Given the description of an element on the screen output the (x, y) to click on. 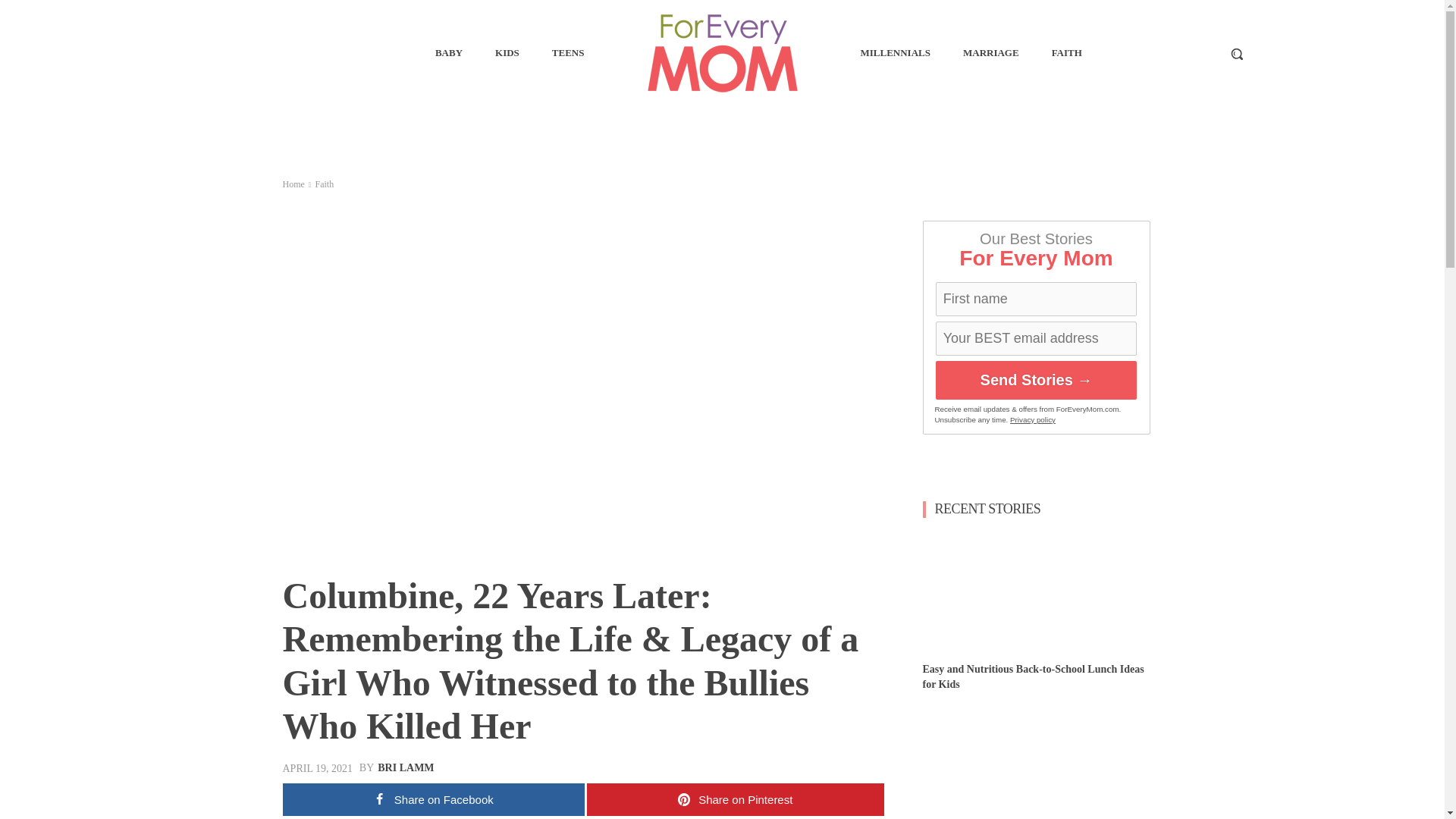
Share on Pinterest (734, 798)
View all posts in Faith (323, 184)
MARRIAGE (990, 52)
Faith (323, 184)
Home (293, 184)
Share on Facebook (432, 798)
BRI LAMM (405, 767)
MILLENNIALS (894, 52)
